Given the description of an element on the screen output the (x, y) to click on. 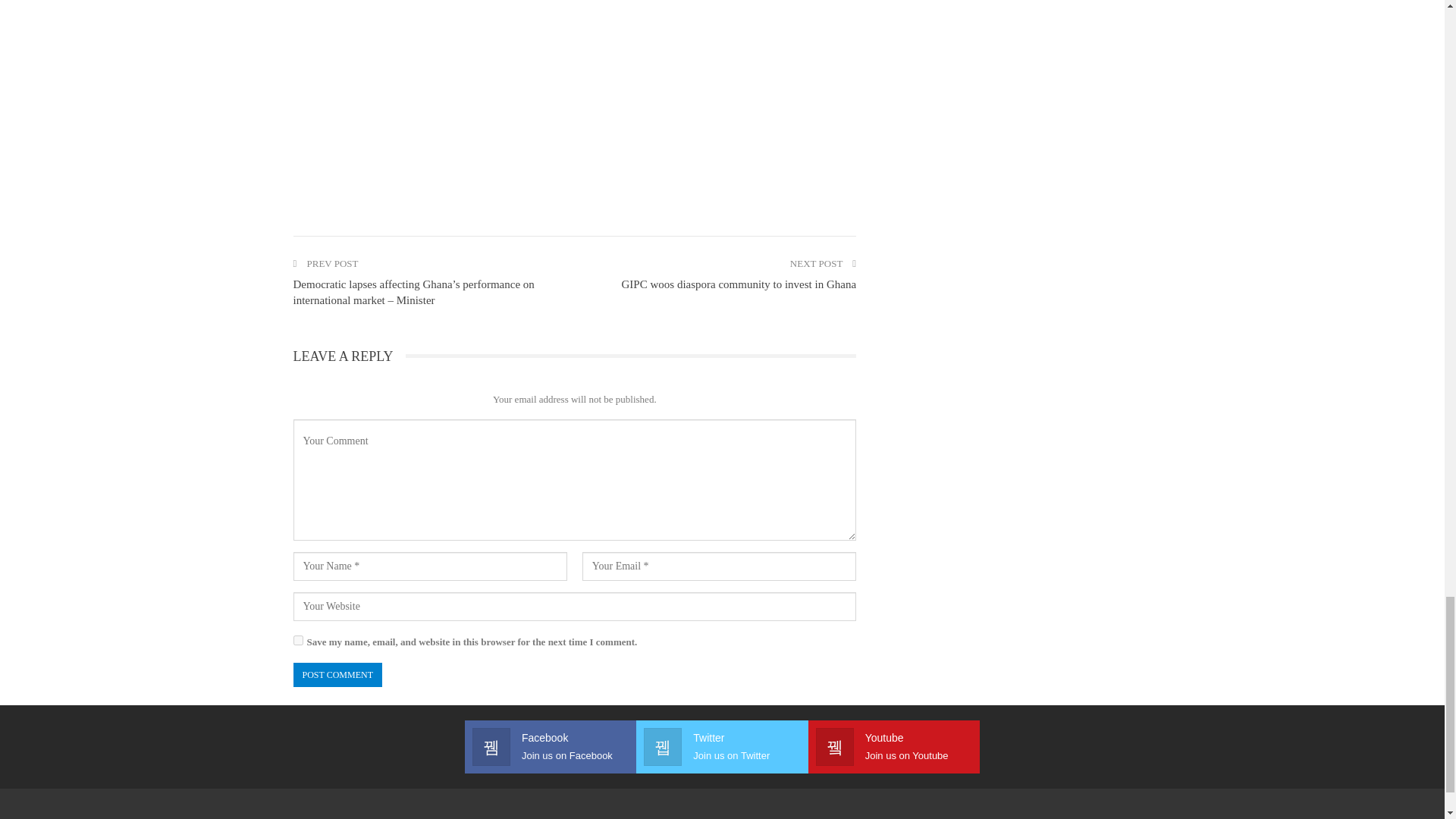
yes (297, 640)
Post Comment (336, 674)
Post Comment (336, 674)
GIPC woos diaspora community to invest in Ghana (739, 284)
